Given the description of an element on the screen output the (x, y) to click on. 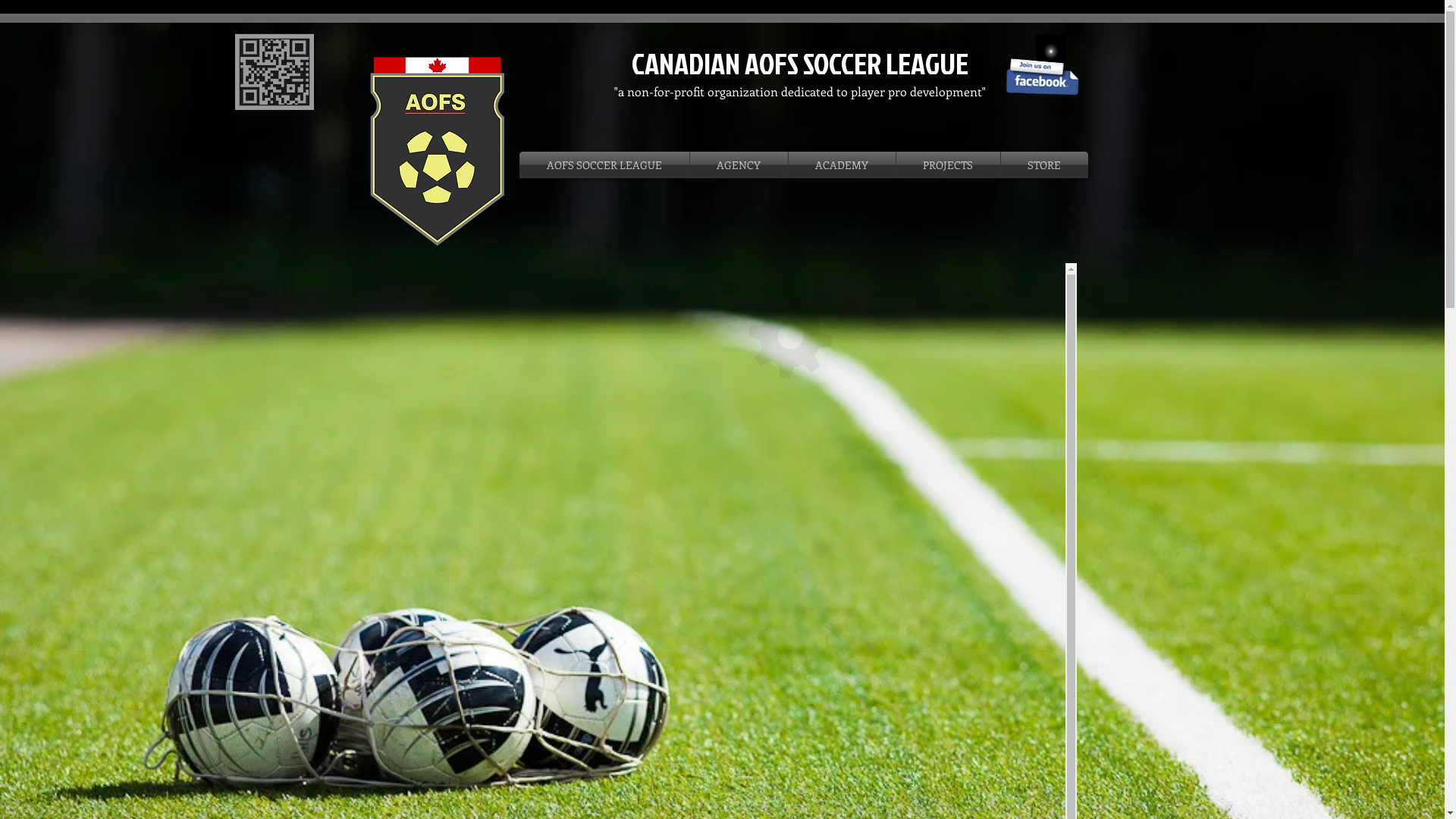
facebook.png Element type: hover (1041, 76)
ACADEMY Element type: text (841, 164)
STORE Element type: text (1044, 164)
newaofslogo77s_edited.png Element type: hover (436, 150)
PROJECTS Element type: text (948, 164)
AGENCY Element type: text (738, 164)
AOFS SOCCER LEAGUE Element type: text (603, 164)
